Given the description of an element on the screen output the (x, y) to click on. 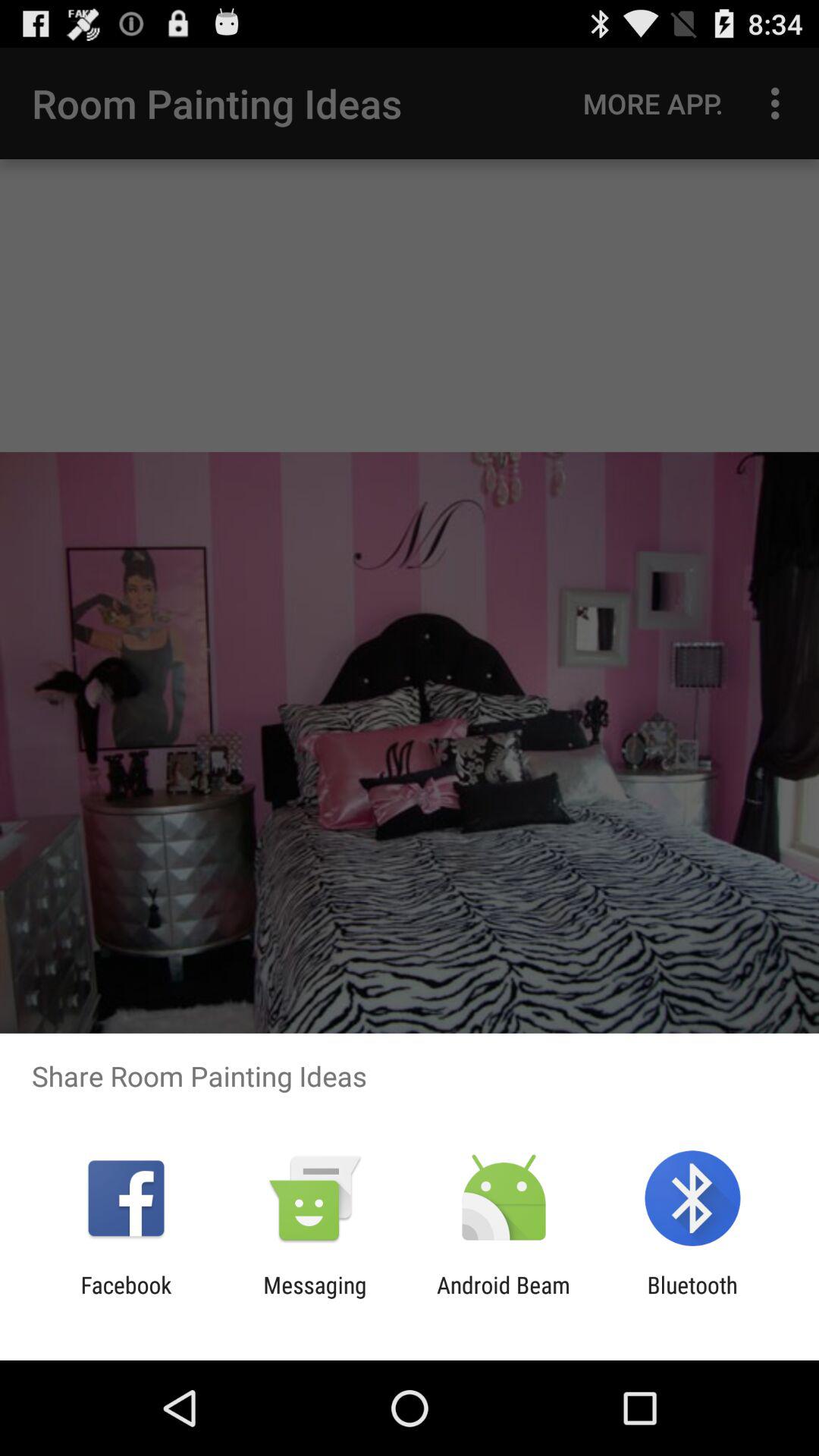
swipe to bluetooth item (692, 1298)
